Given the description of an element on the screen output the (x, y) to click on. 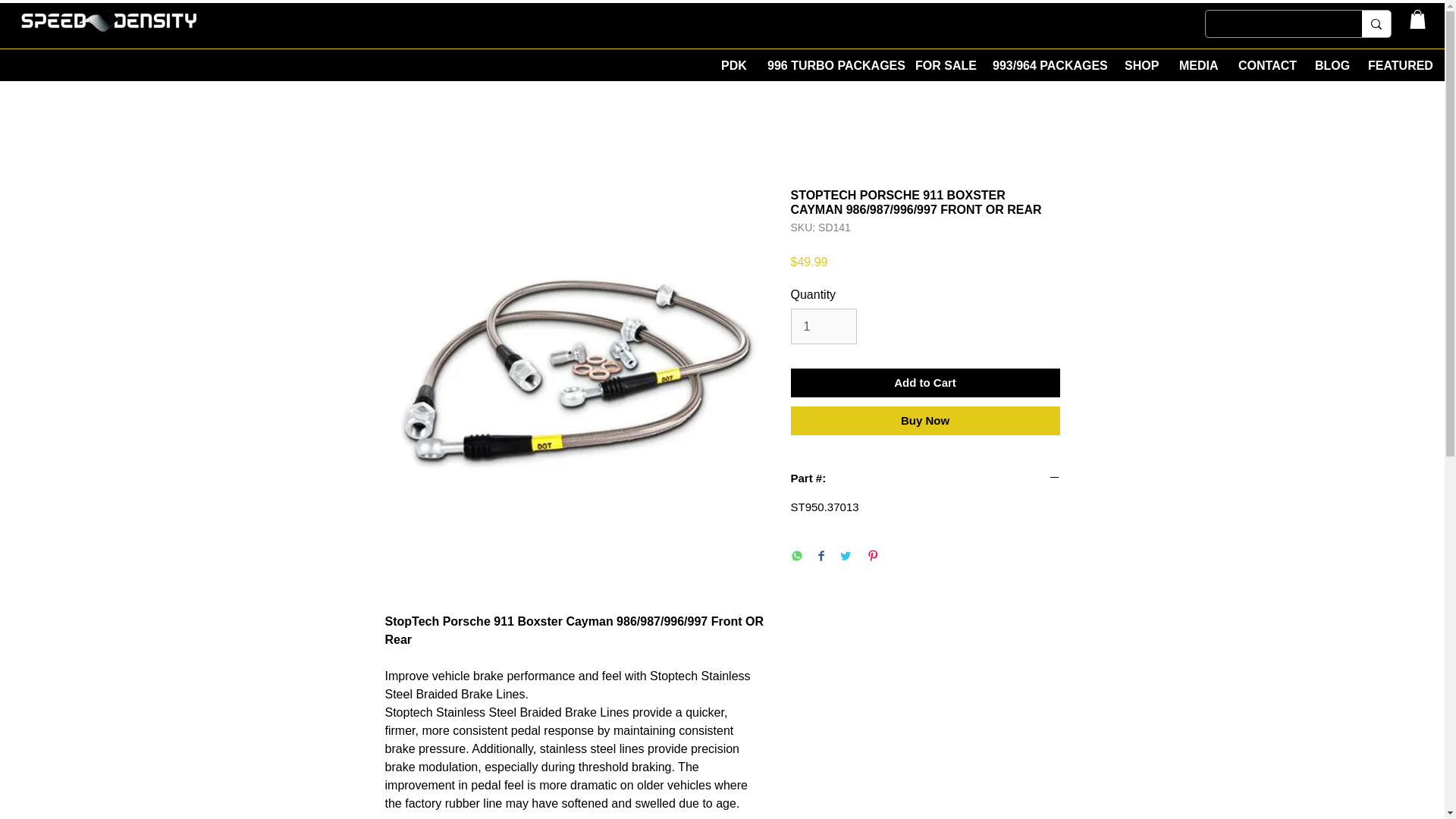
Buy Now (924, 420)
CONTACT (1265, 65)
SHOP (1140, 65)
FOR SALE (942, 65)
FEATURED (1397, 65)
PDK (732, 65)
BLOG (1329, 65)
1 (823, 325)
996 TURBO PACKAGES (829, 65)
Add to Cart (924, 383)
MEDIA (1197, 65)
